Given the description of an element on the screen output the (x, y) to click on. 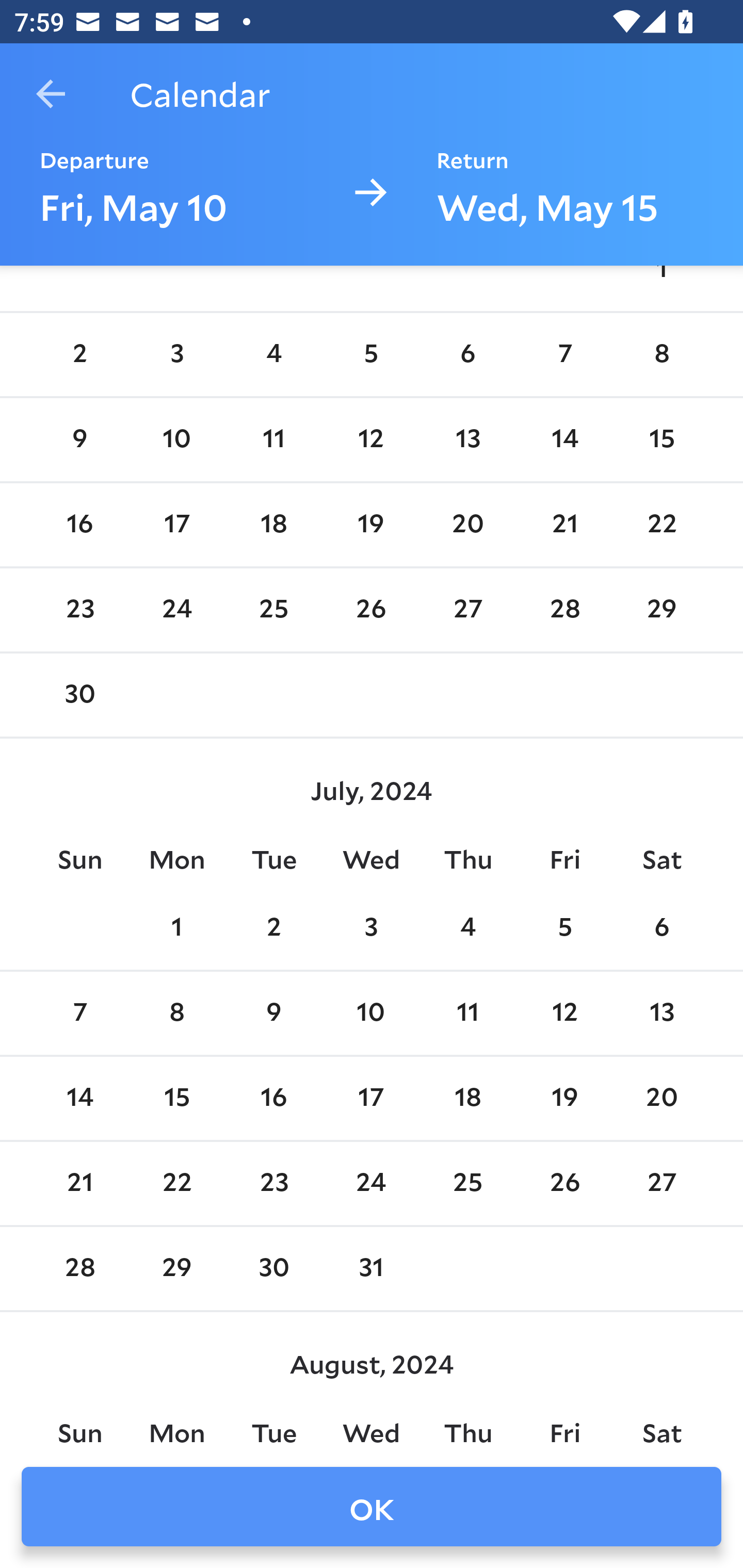
Navigate up (50, 93)
2 (79, 354)
3 (177, 354)
4 (273, 354)
5 (371, 354)
6 (467, 354)
7 (565, 354)
8 (661, 354)
9 (79, 440)
10 (177, 440)
11 (273, 440)
12 (371, 440)
13 (467, 440)
14 (565, 440)
15 (661, 440)
16 (79, 525)
17 (177, 525)
18 (273, 525)
19 (371, 525)
20 (467, 525)
21 (565, 525)
22 (661, 525)
23 (79, 609)
24 (177, 609)
25 (273, 609)
26 (371, 609)
27 (467, 609)
28 (565, 609)
29 (661, 609)
30 (79, 694)
1 (177, 928)
2 (273, 928)
3 (371, 928)
4 (467, 928)
5 (565, 928)
6 (661, 928)
7 (79, 1012)
8 (177, 1012)
9 (273, 1012)
10 (371, 1012)
11 (467, 1012)
12 (565, 1012)
13 (661, 1012)
14 (79, 1099)
15 (177, 1099)
16 (273, 1099)
17 (371, 1099)
18 (467, 1099)
19 (565, 1099)
20 (661, 1099)
